Given the description of an element on the screen output the (x, y) to click on. 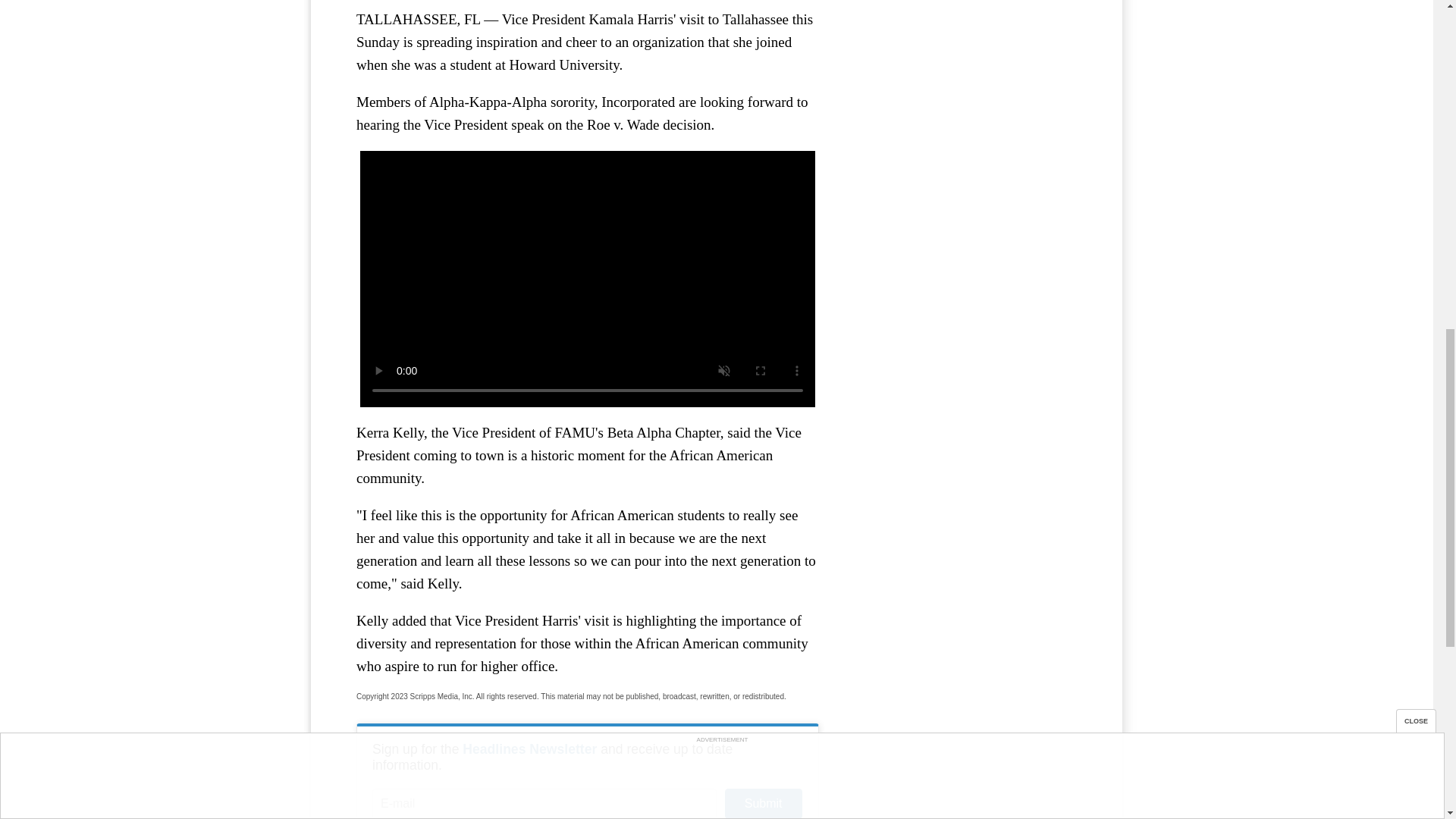
Submit (763, 803)
